Given the description of an element on the screen output the (x, y) to click on. 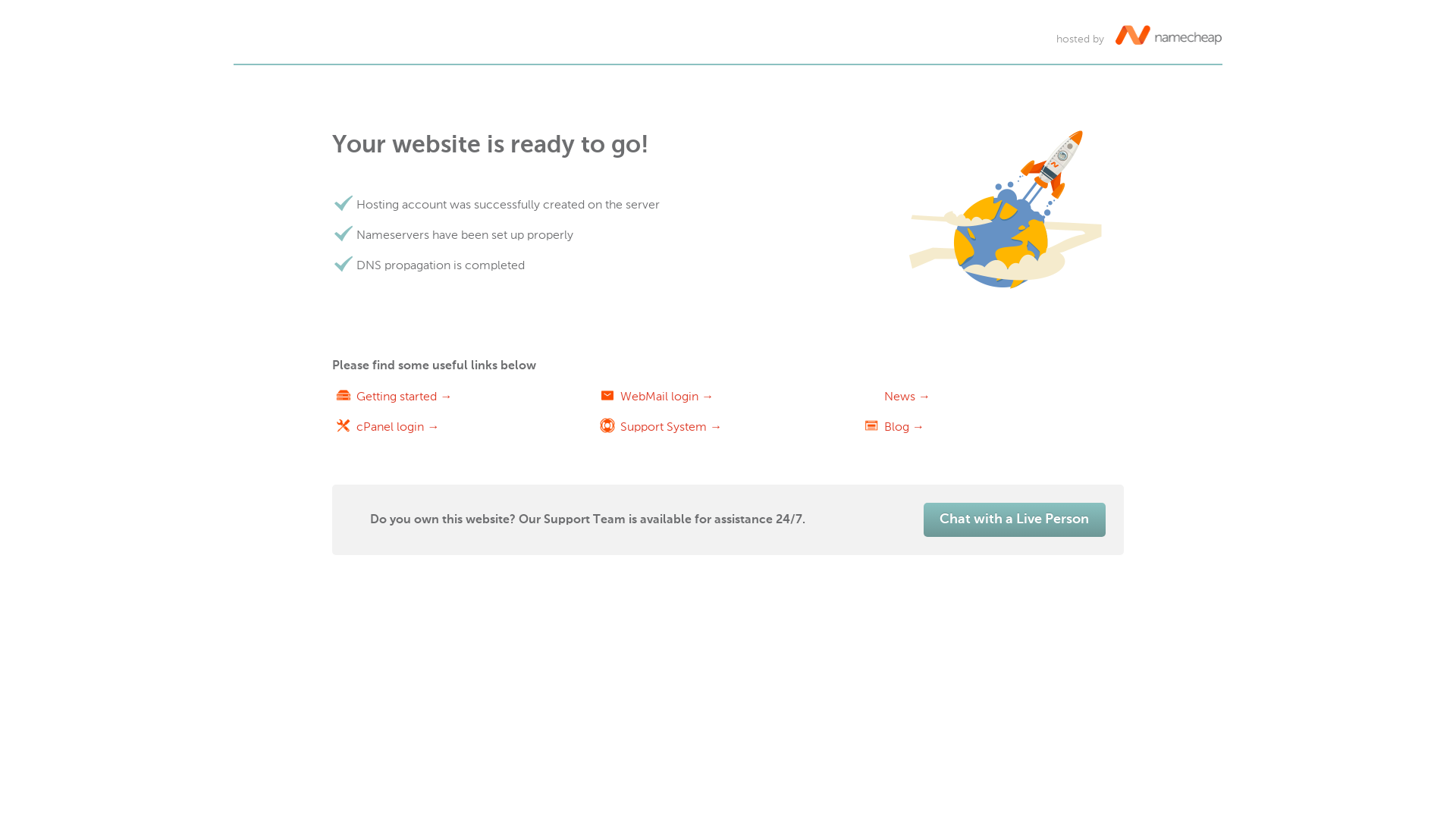
Chat with a Live Person Element type: text (1014, 519)
